Given the description of an element on the screen output the (x, y) to click on. 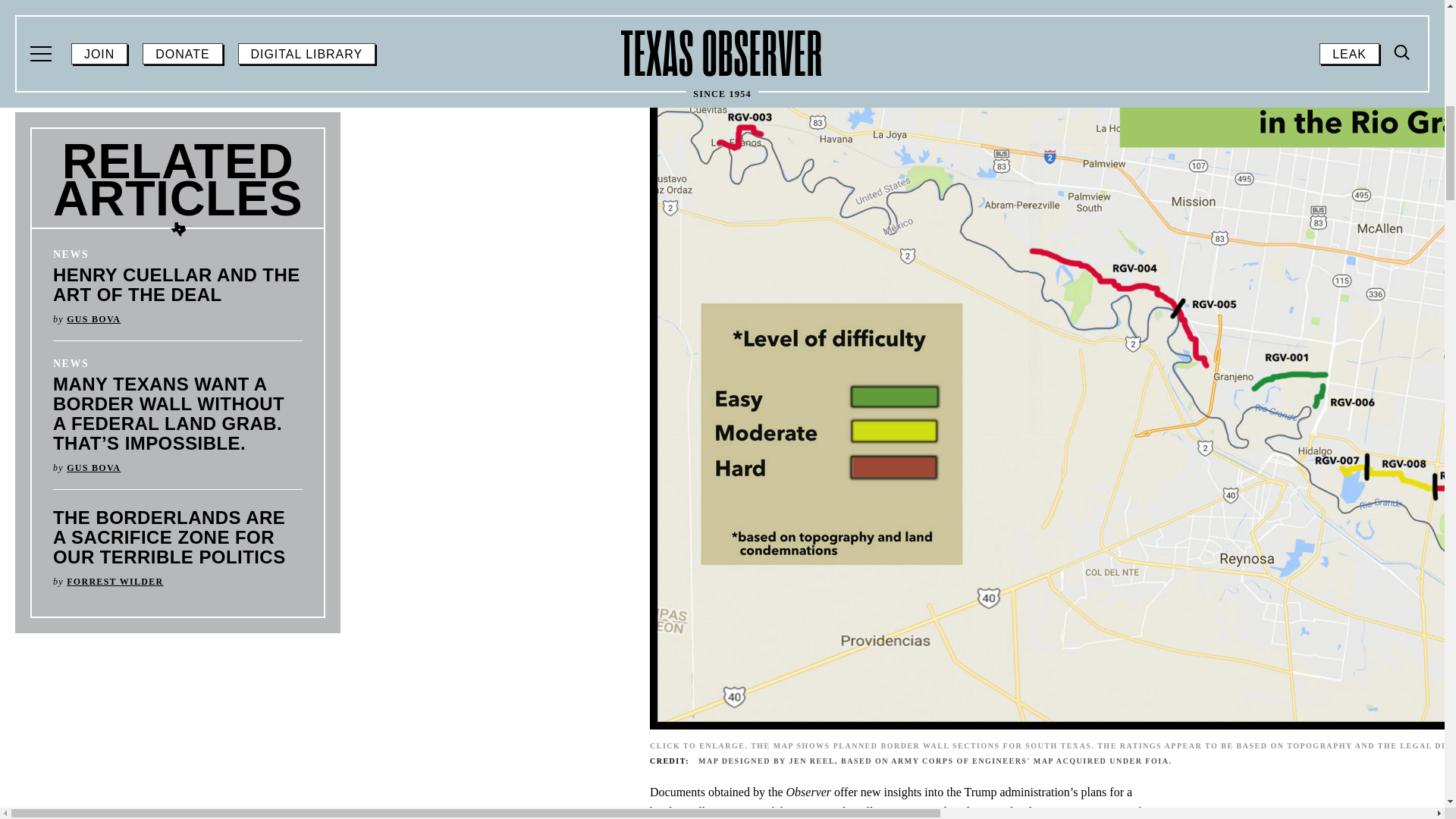
Post by Gus Bova (93, 467)
Post by Gus Bova (93, 318)
Post by Forrest Wilder (114, 581)
